Given the description of an element on the screen output the (x, y) to click on. 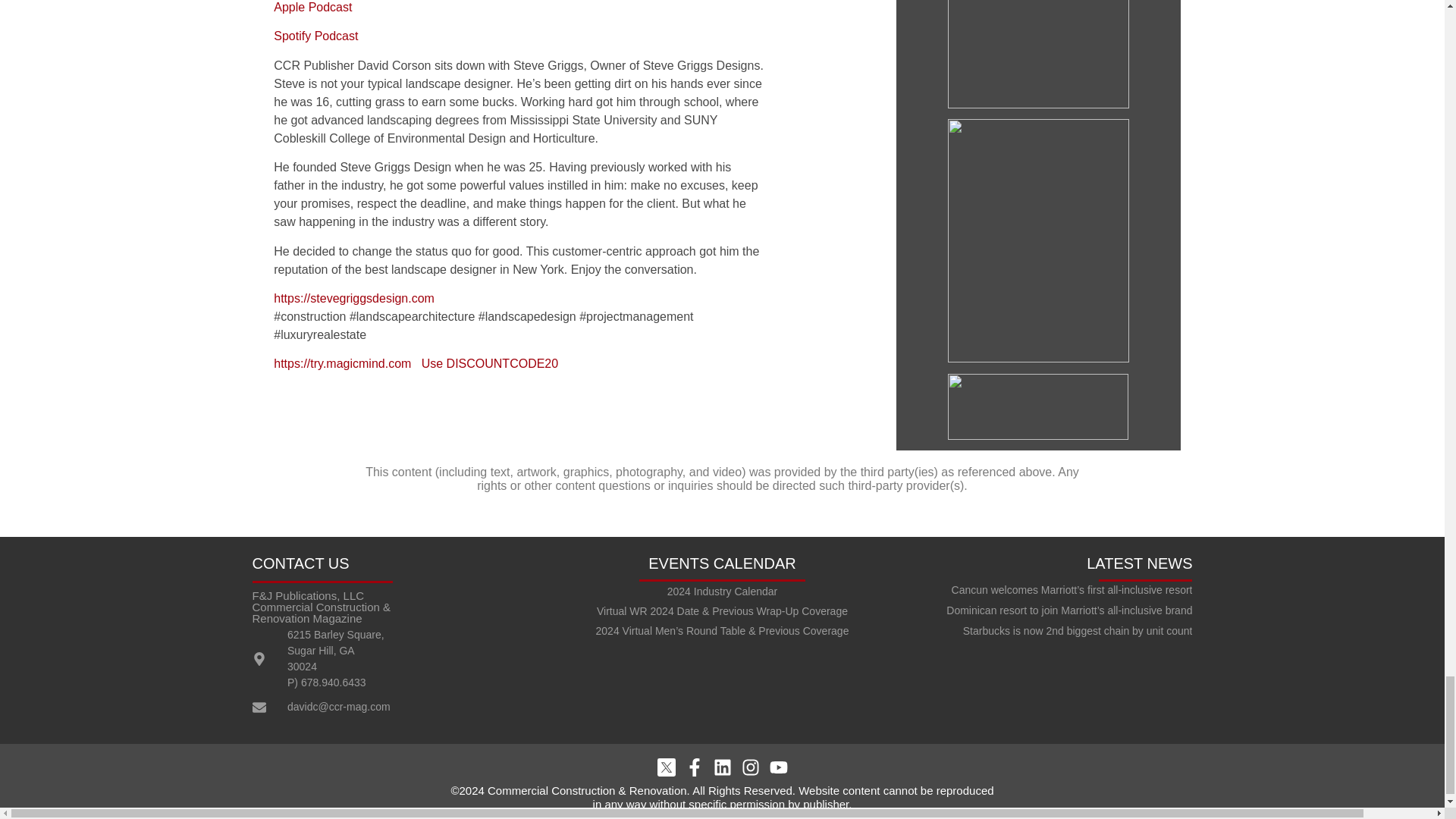
Social Media (721, 767)
